Given the description of an element on the screen output the (x, y) to click on. 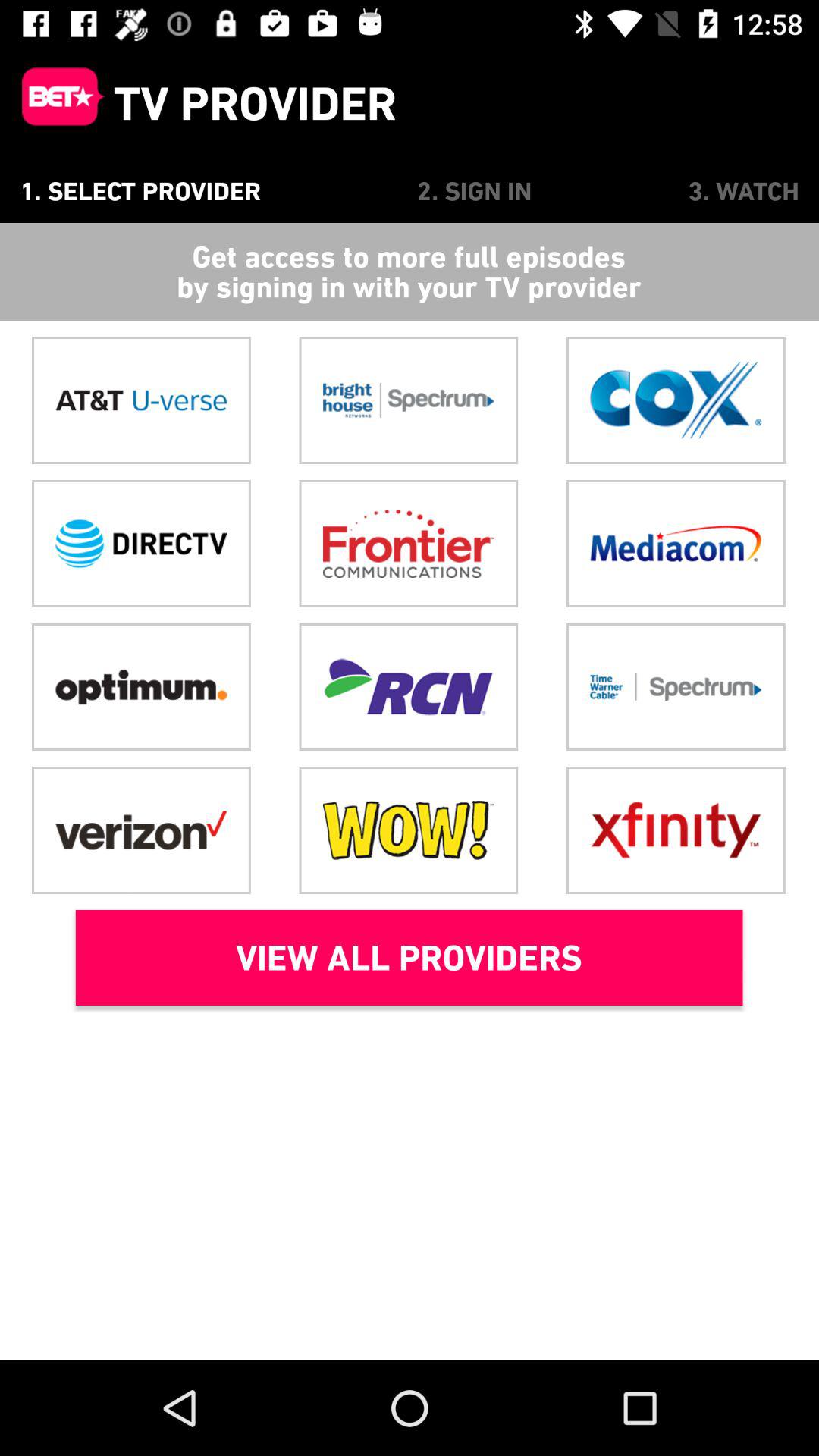
jump until view all providers item (408, 957)
